Given the description of an element on the screen output the (x, y) to click on. 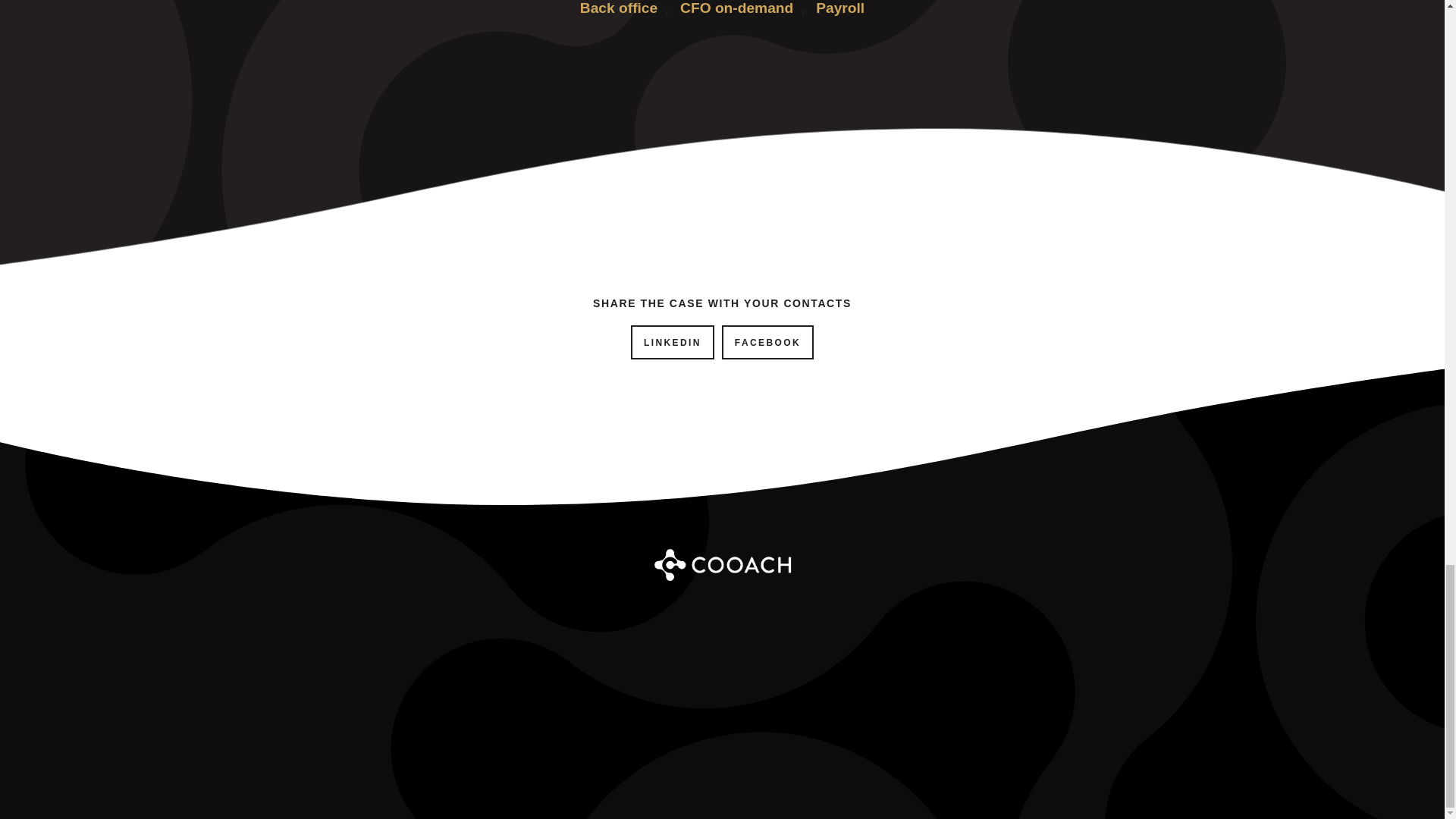
CFO on-demand (735, 15)
Payroll (840, 15)
Back office (618, 15)
